Given the description of an element on the screen output the (x, y) to click on. 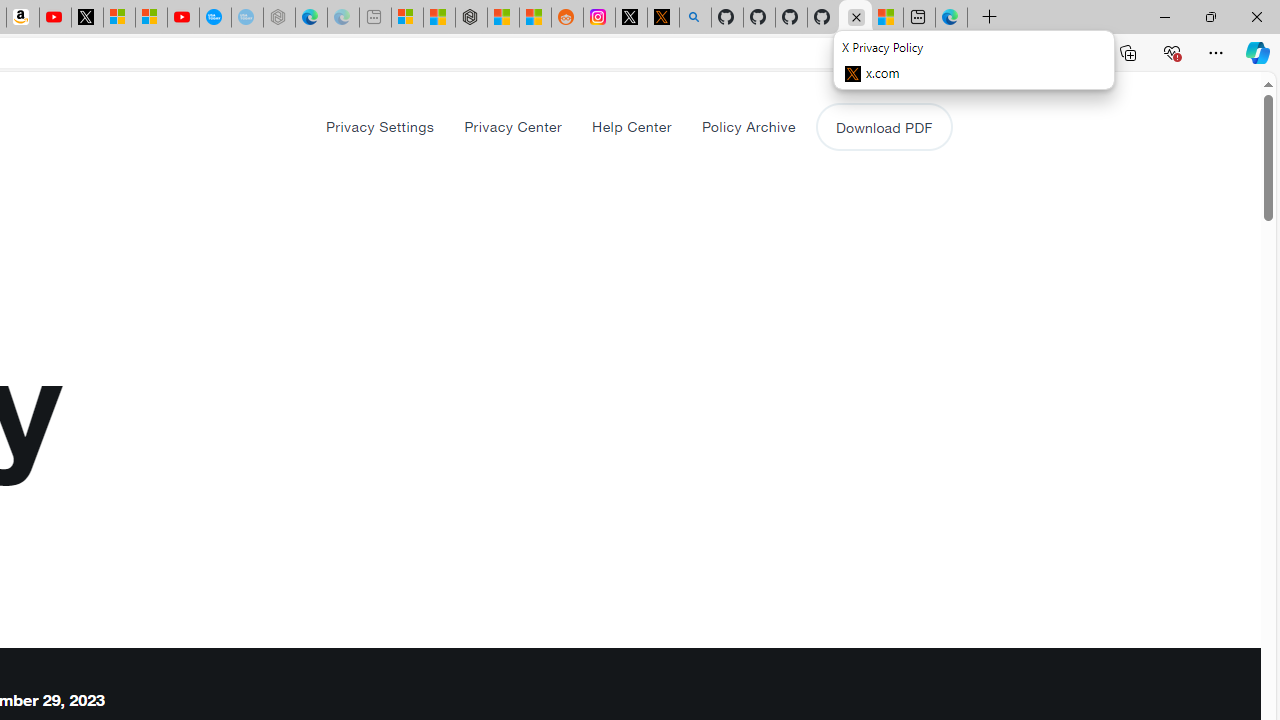
Day 1: Arriving in Yemen (surreal to be here) - YouTube (54, 17)
Help Center (631, 126)
The most popular Google 'how to' searches - Sleeping (246, 17)
Nordace - Duffels (471, 17)
Privacy Center (512, 126)
Help Center (631, 126)
Privacy Center (513, 126)
